Given the description of an element on the screen output the (x, y) to click on. 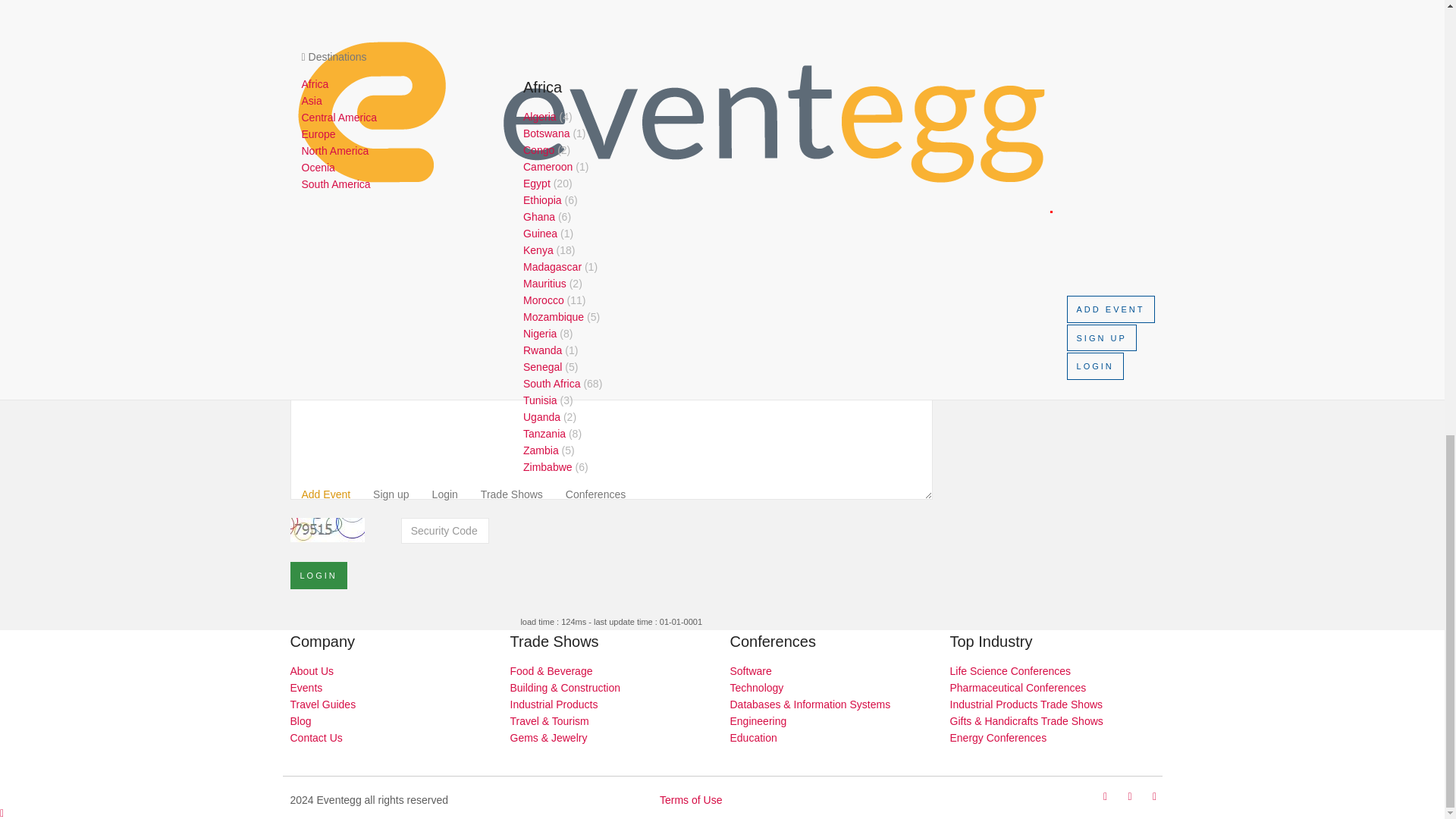
10-04-2024 (611, 151)
14-04-2024 (611, 195)
Hilton New Orleans Airport (611, 125)
